Given the description of an element on the screen output the (x, y) to click on. 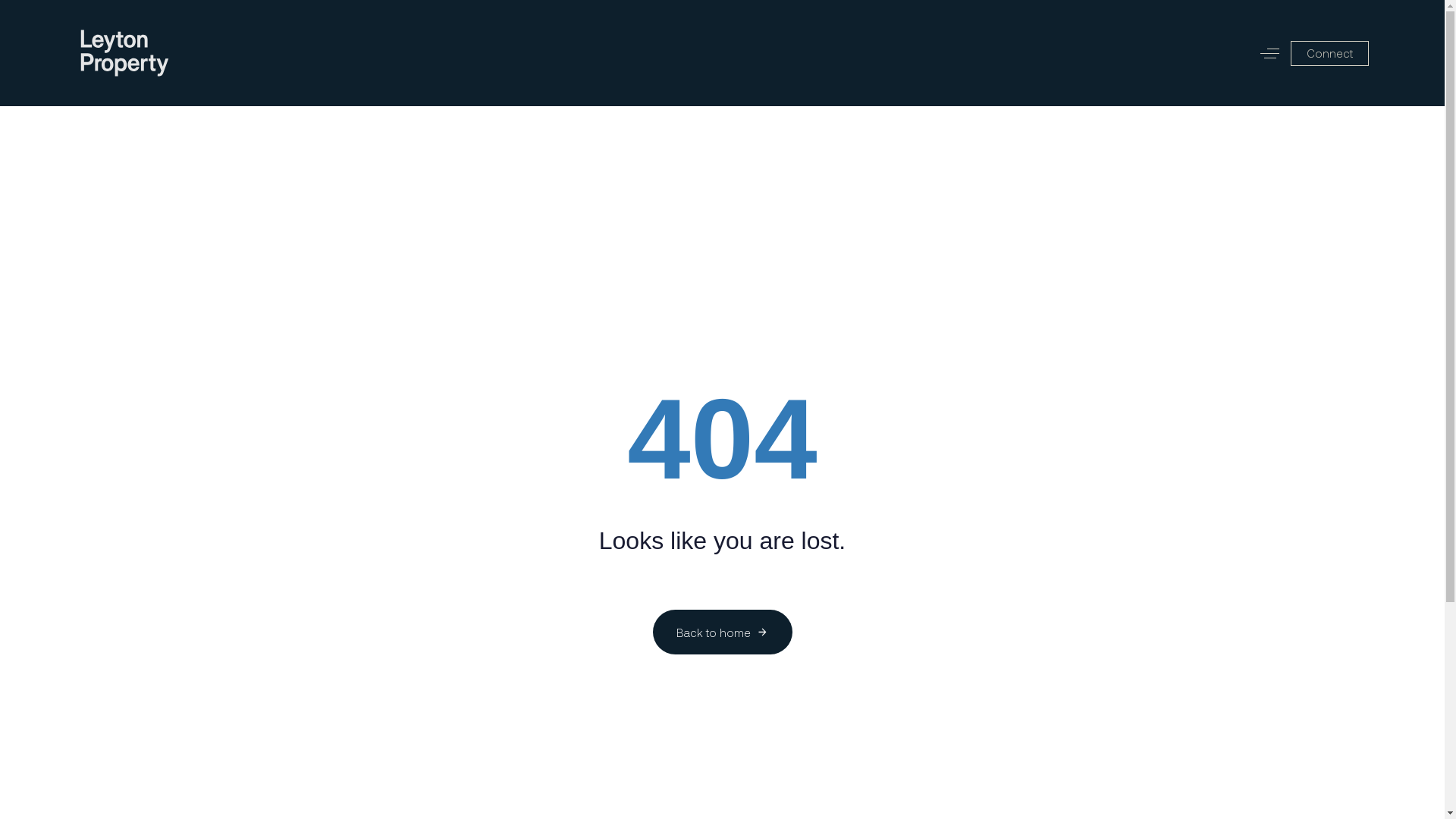
Back to home Element type: text (721, 631)
Connect Element type: text (1329, 52)
